Given the description of an element on the screen output the (x, y) to click on. 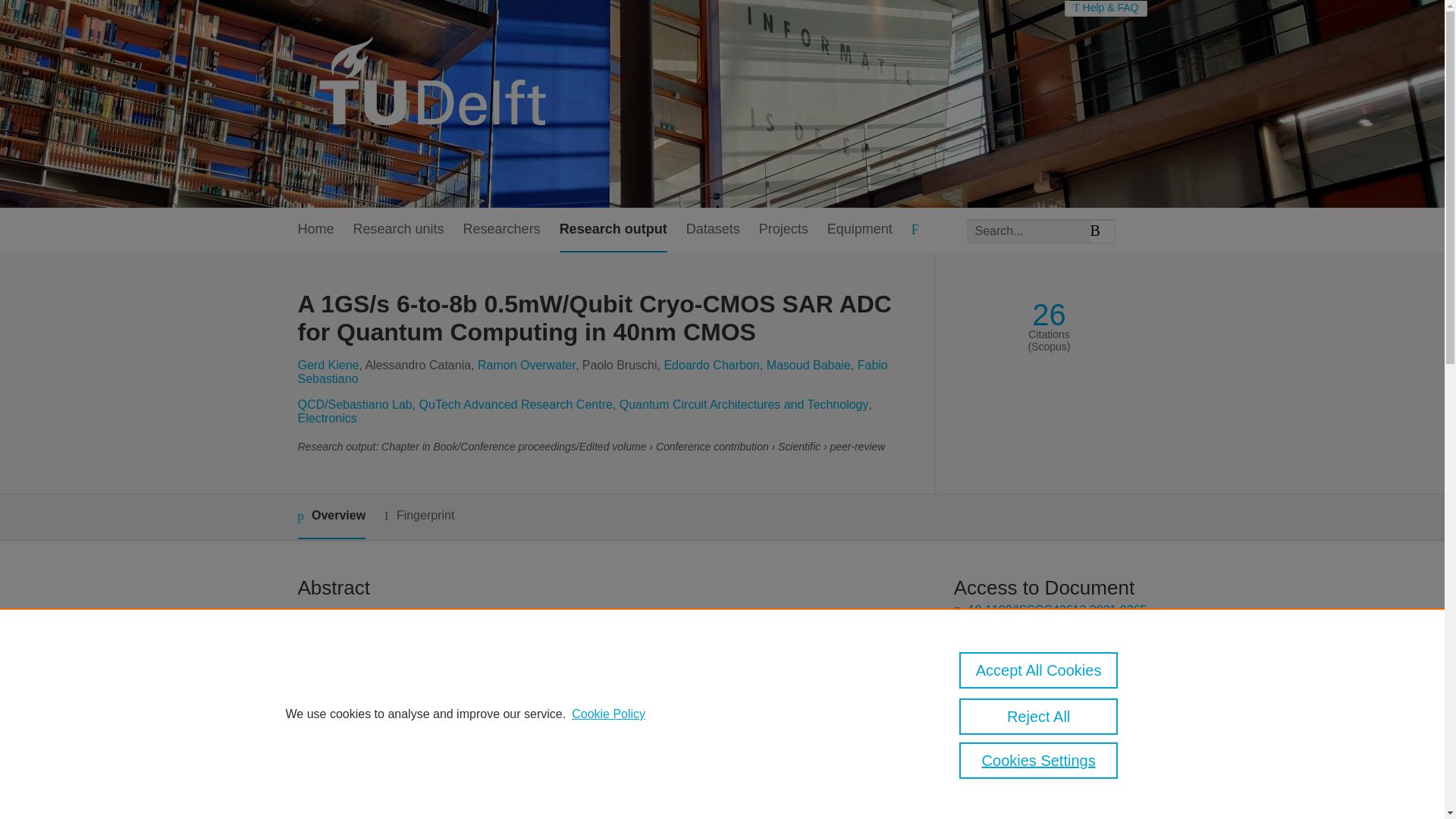
Ramon Overwater (526, 364)
Equipment (859, 230)
Researchers (501, 230)
Edoardo Charbon (710, 364)
Masoud Babaie (808, 364)
Link to publication in Scopus (1045, 683)
TU Delft Research Portal Home (438, 103)
Research units (398, 230)
Projects (783, 230)
Gerd Kiene (327, 364)
Research output (612, 230)
26 (1048, 315)
Fabio Sebastiano (591, 371)
Overview (331, 516)
Datasets (712, 230)
